Given the description of an element on the screen output the (x, y) to click on. 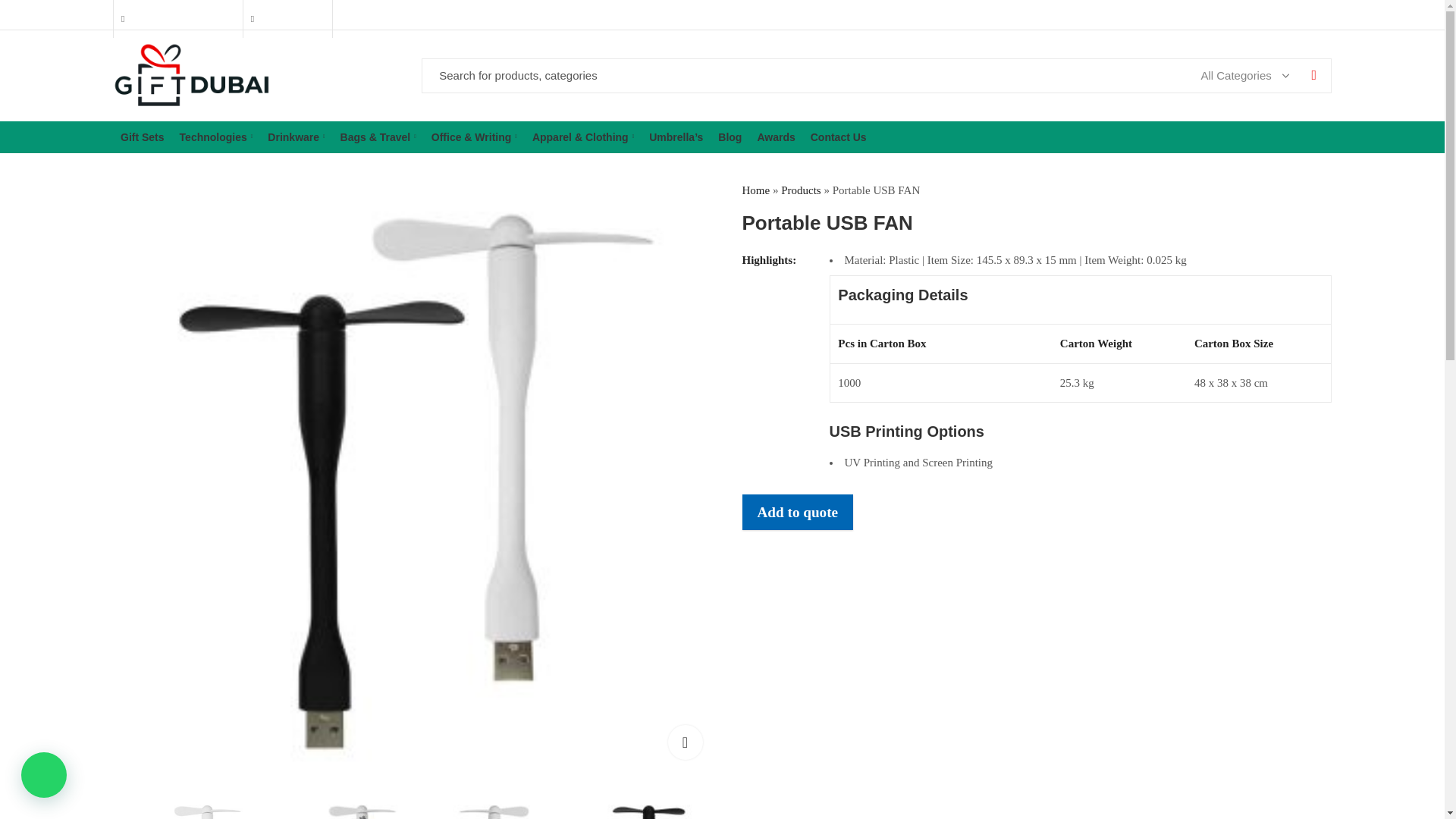
Blog (729, 137)
Gift Sets (142, 137)
Drinkware (295, 137)
Technologies (215, 137)
Search (1313, 75)
